Given the description of an element on the screen output the (x, y) to click on. 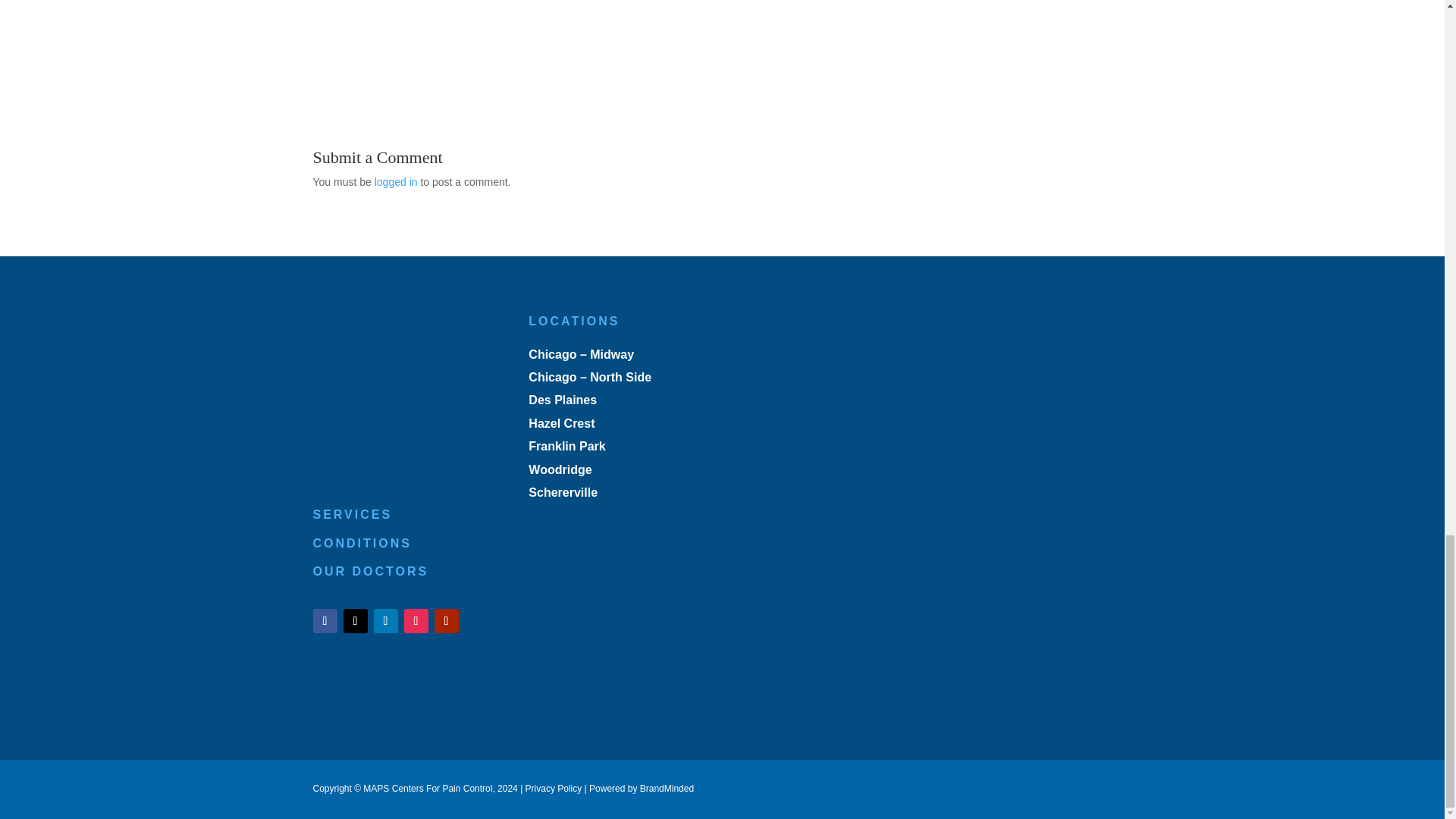
Follow on X (354, 621)
Follow on LinkedIn (384, 621)
Follow on Youtube (445, 621)
Follow on Instagram (415, 621)
Follow on Facebook (324, 621)
